Given the description of an element on the screen output the (x, y) to click on. 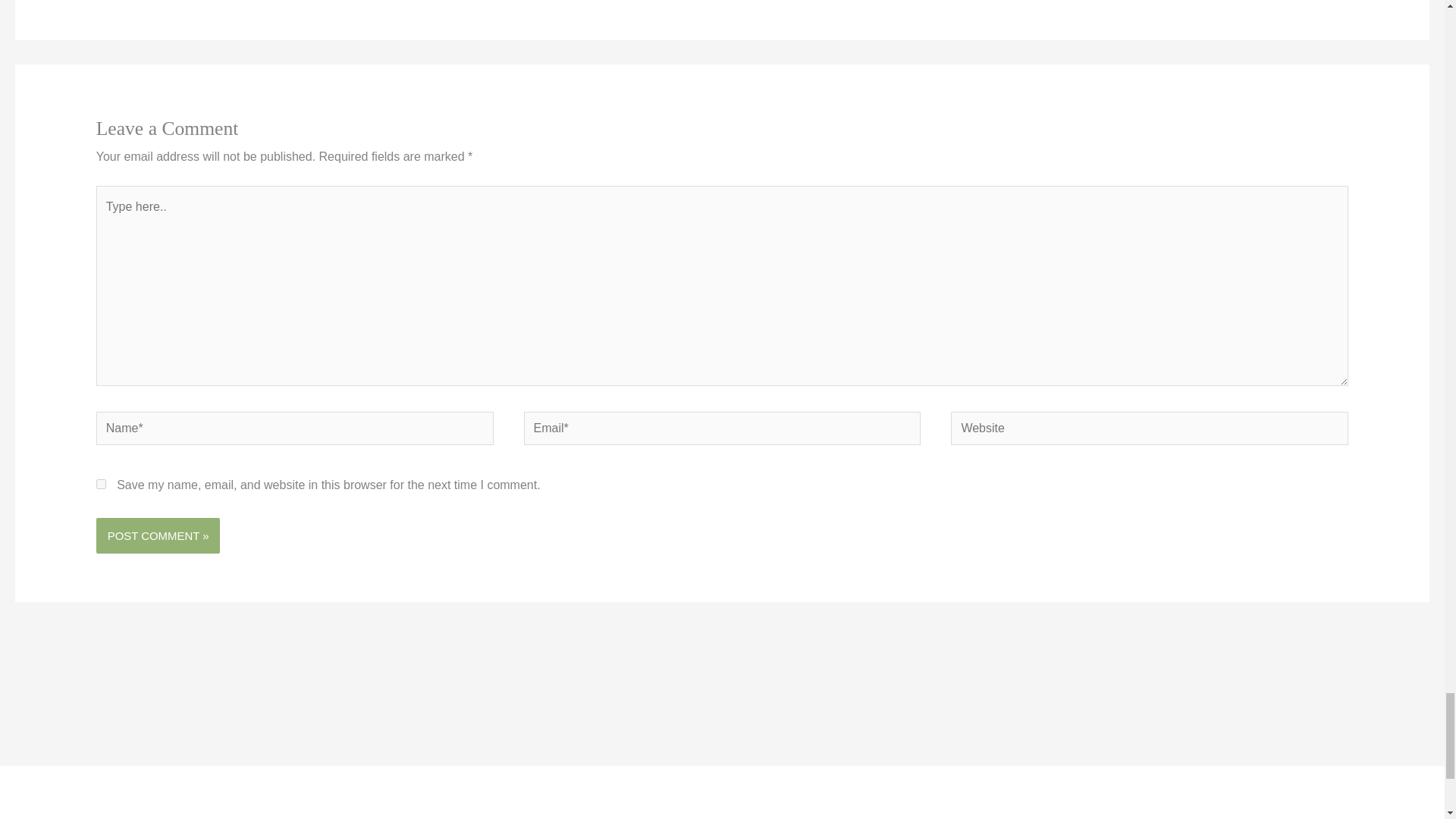
yes (101, 483)
